Given the description of an element on the screen output the (x, y) to click on. 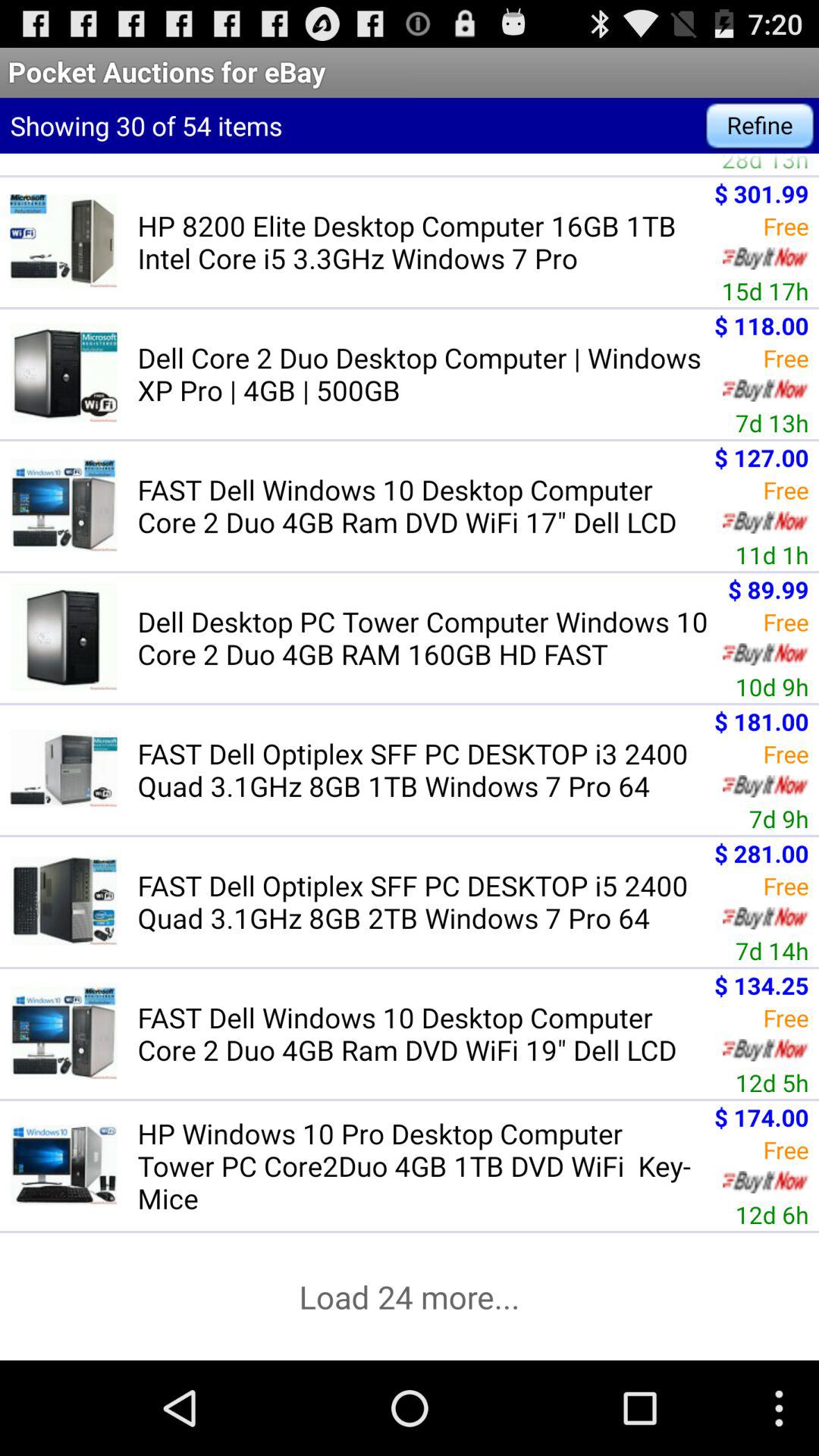
press the icon below 7d 14h (761, 985)
